Given the description of an element on the screen output the (x, y) to click on. 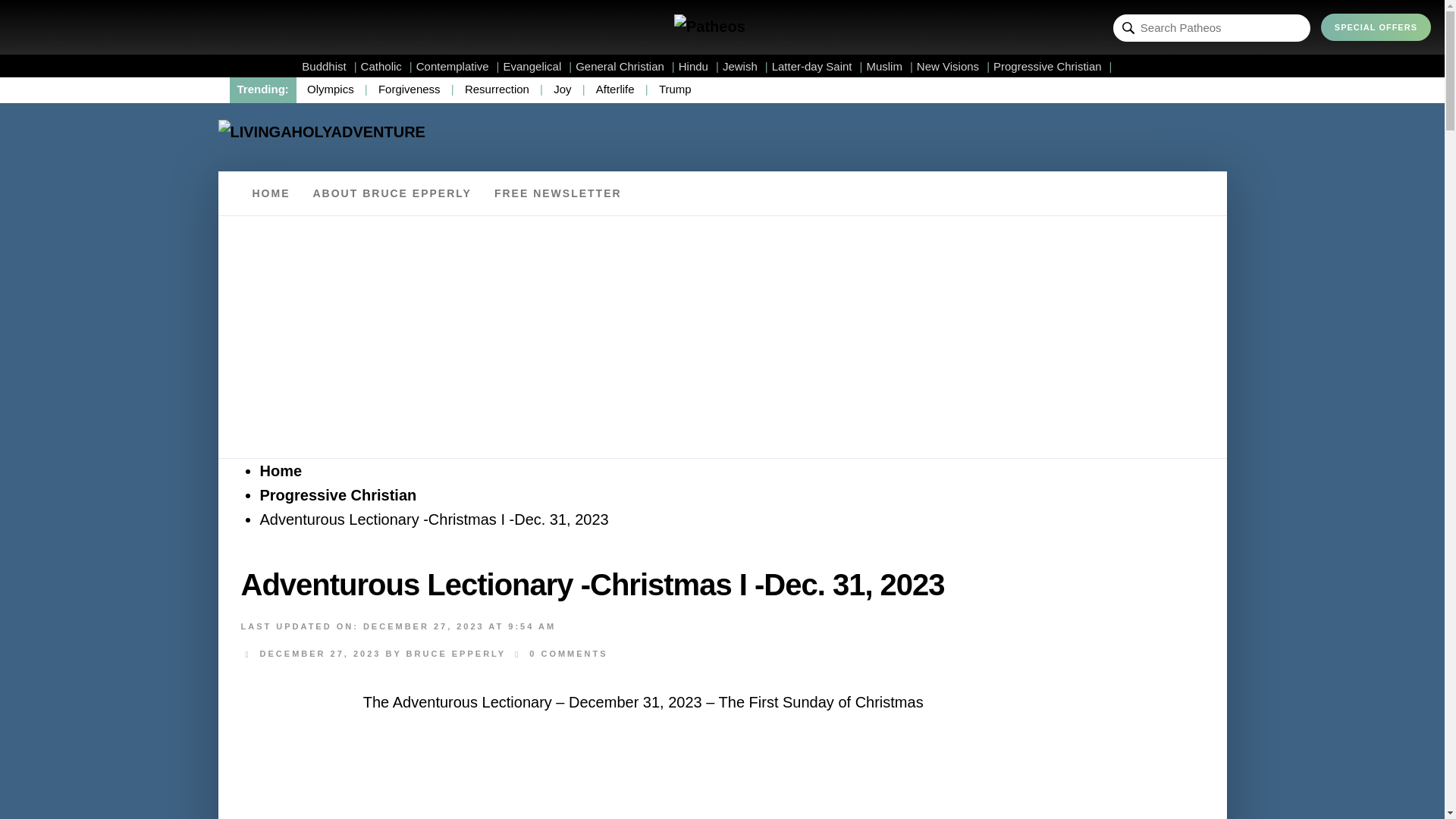
New Visions (953, 65)
Muslim (889, 65)
Evangelical (537, 65)
Jewish (745, 65)
General Christian (625, 65)
Contemplative (457, 65)
Buddhist (328, 65)
Hindu (698, 65)
Catholic (386, 65)
Progressive Christian (1052, 65)
